Given the description of an element on the screen output the (x, y) to click on. 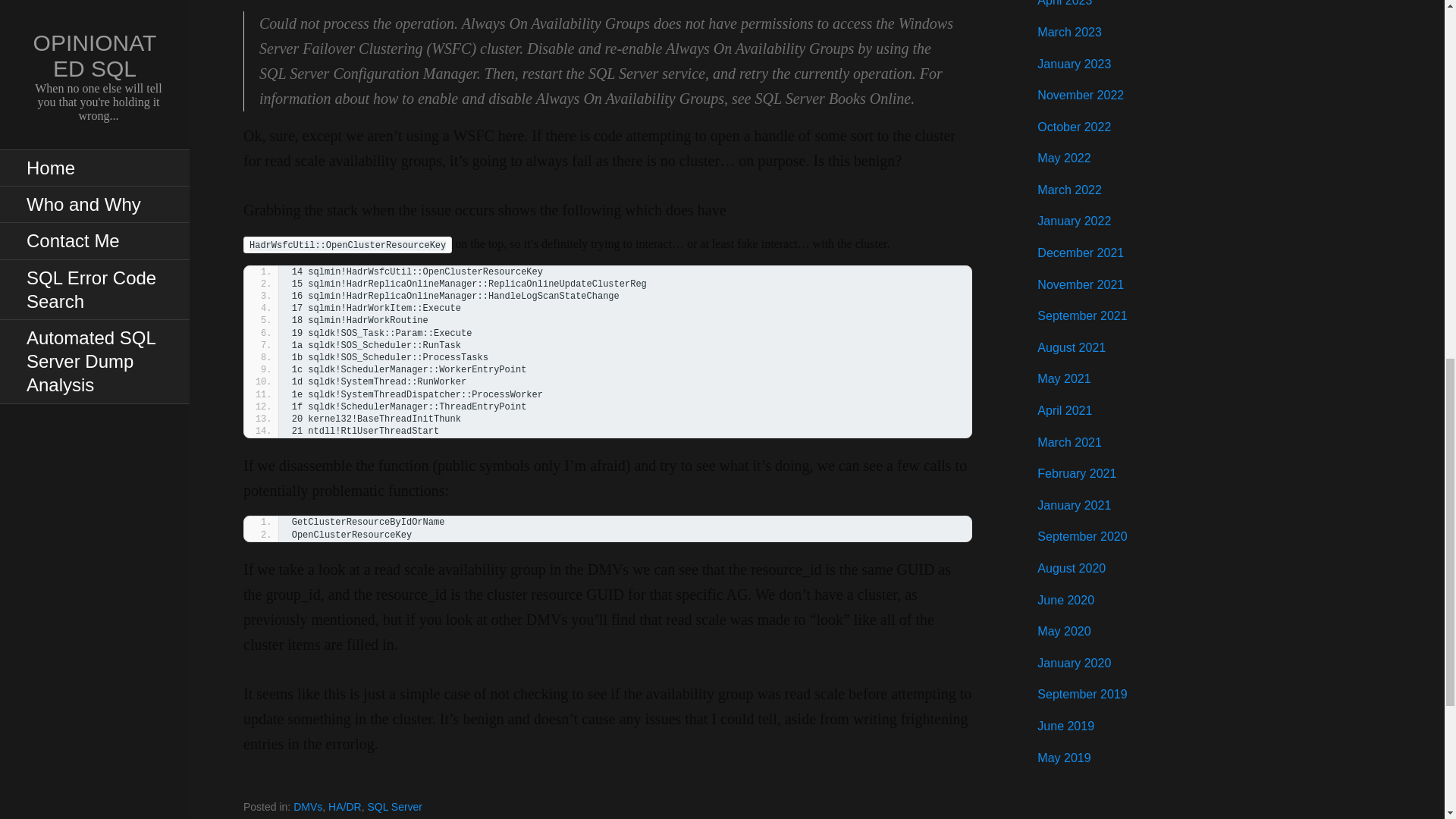
November 2022 (1080, 94)
March 2023 (1069, 31)
DMVs (307, 806)
January 2023 (1073, 63)
April 2023 (1064, 3)
SQL Server (394, 806)
